Given the description of an element on the screen output the (x, y) to click on. 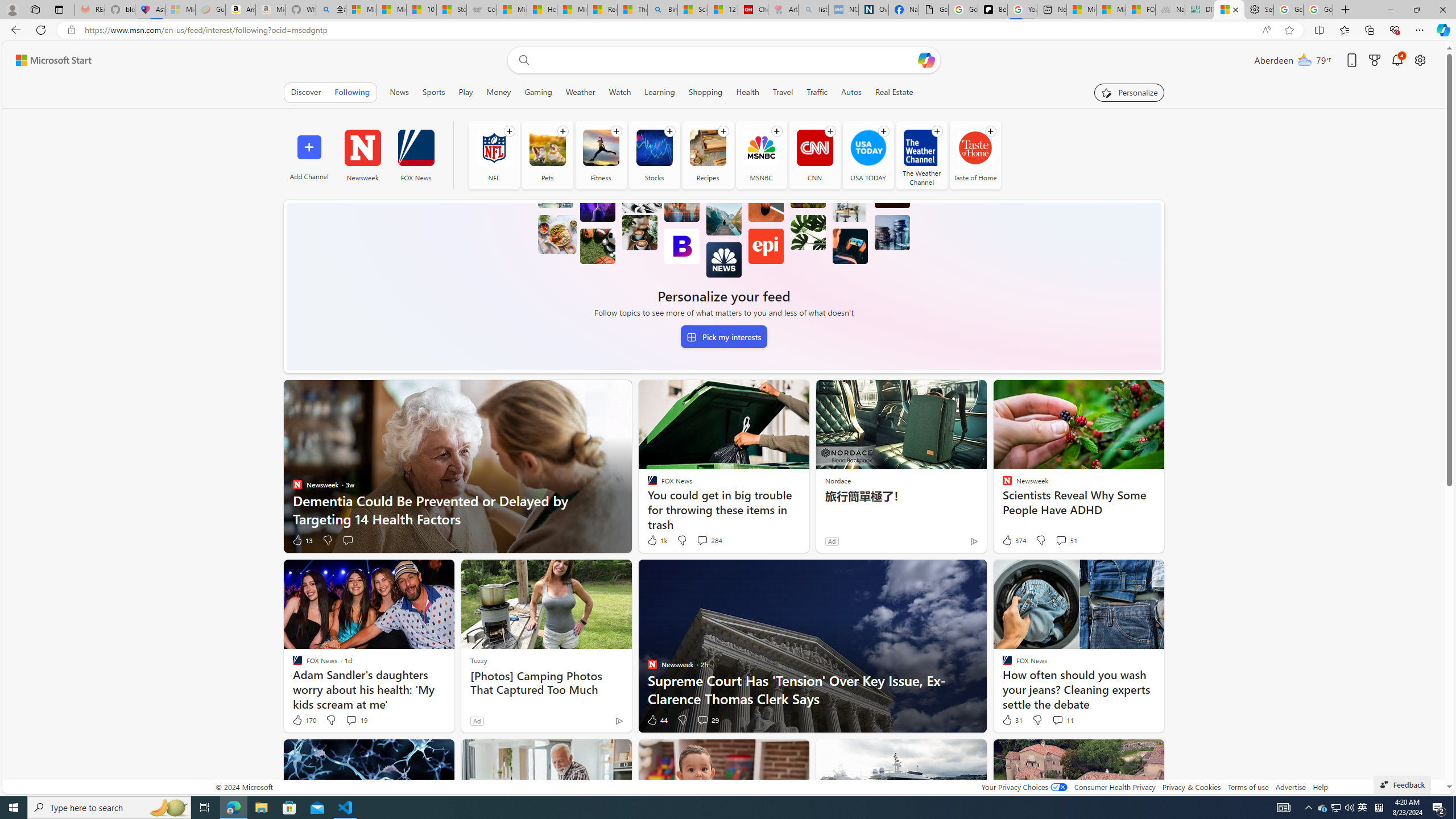
View comments 51 Comment (1065, 539)
Asthma Inhalers: Names and Types (149, 9)
Play (465, 92)
Hide this story (1129, 752)
View comments 51 Comment (1061, 540)
Shopping (705, 92)
Pets (547, 147)
